Given the description of an element on the screen output the (x, y) to click on. 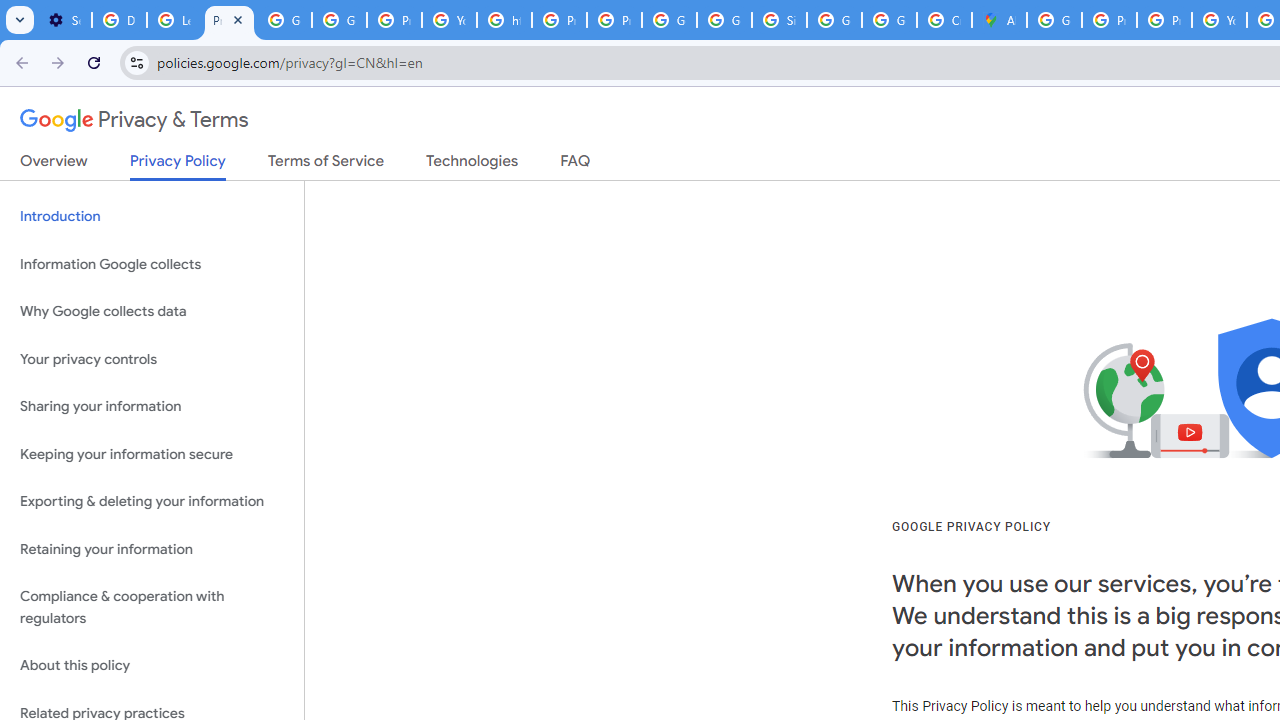
Privacy Help Center - Policies Help (1108, 20)
Sign in - Google Accounts (779, 20)
YouTube (1218, 20)
